Given the description of an element on the screen output the (x, y) to click on. 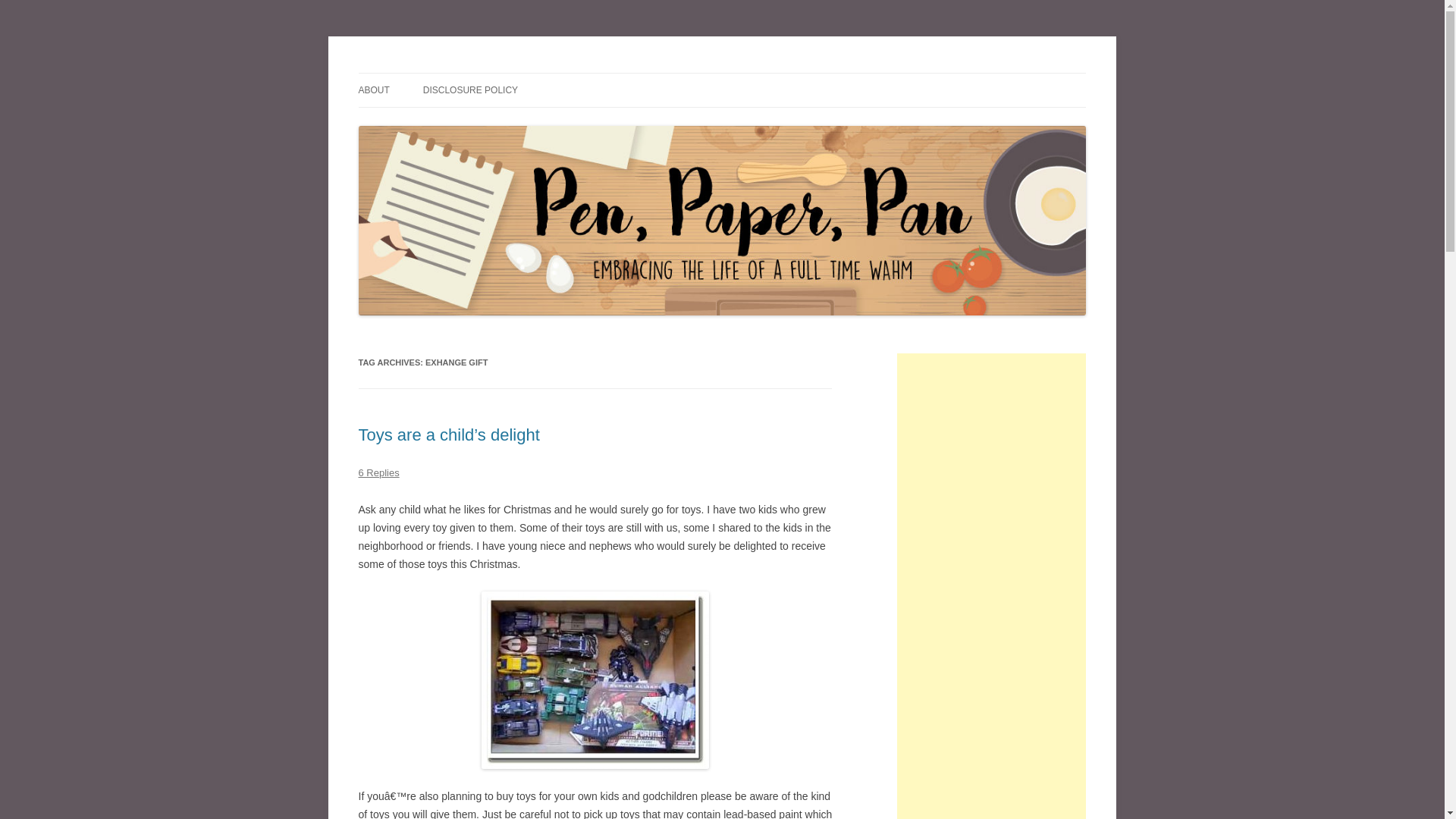
ABOUT (373, 90)
DISCLOSURE POLICY (470, 90)
TOYS (595, 680)
Advertisement (991, 813)
6 Replies (378, 472)
Pen, Paper, Pan (431, 72)
